Given the description of an element on the screen output the (x, y) to click on. 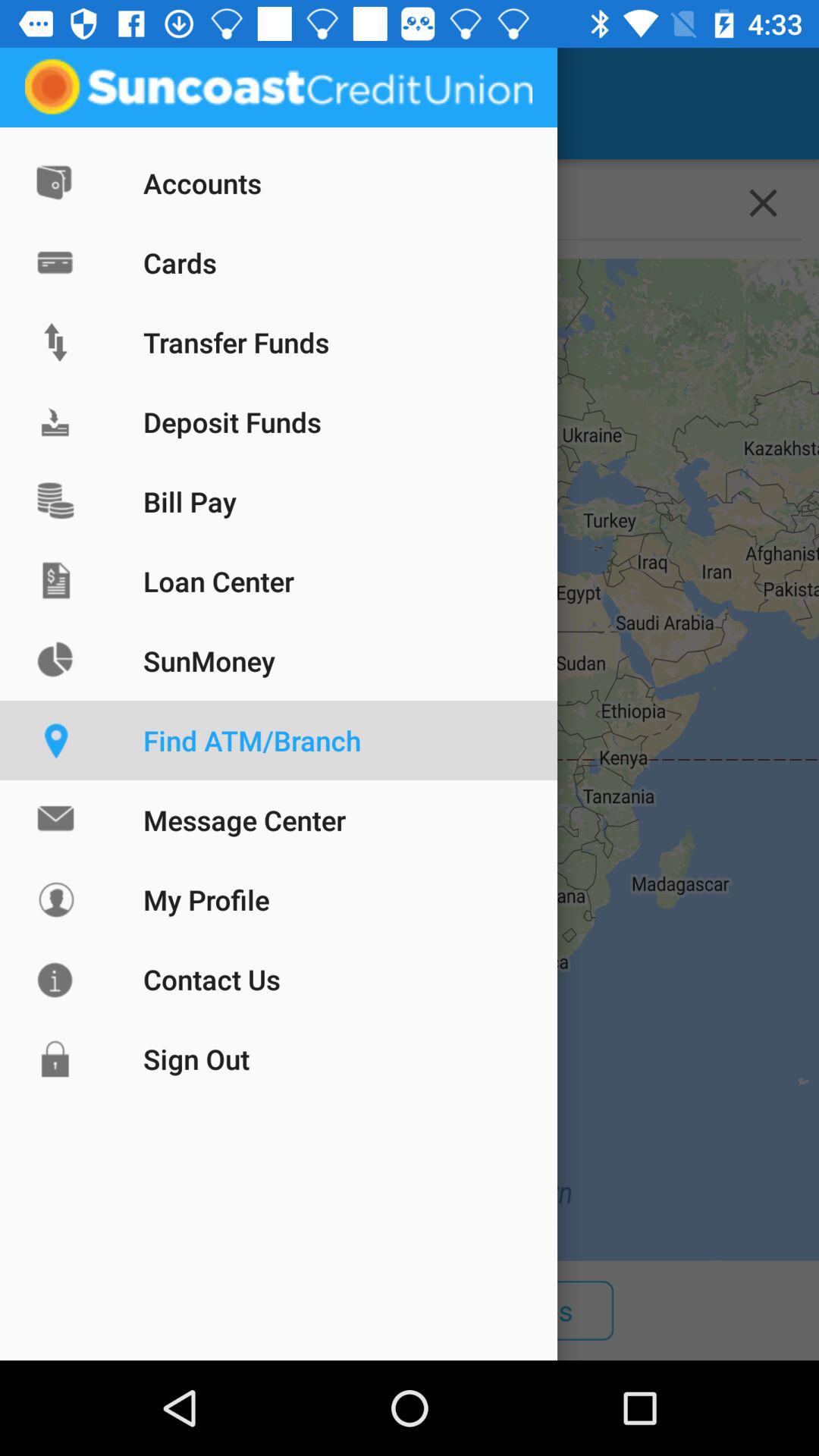
open icon below the 10212 (409, 759)
